Given the description of an element on the screen output the (x, y) to click on. 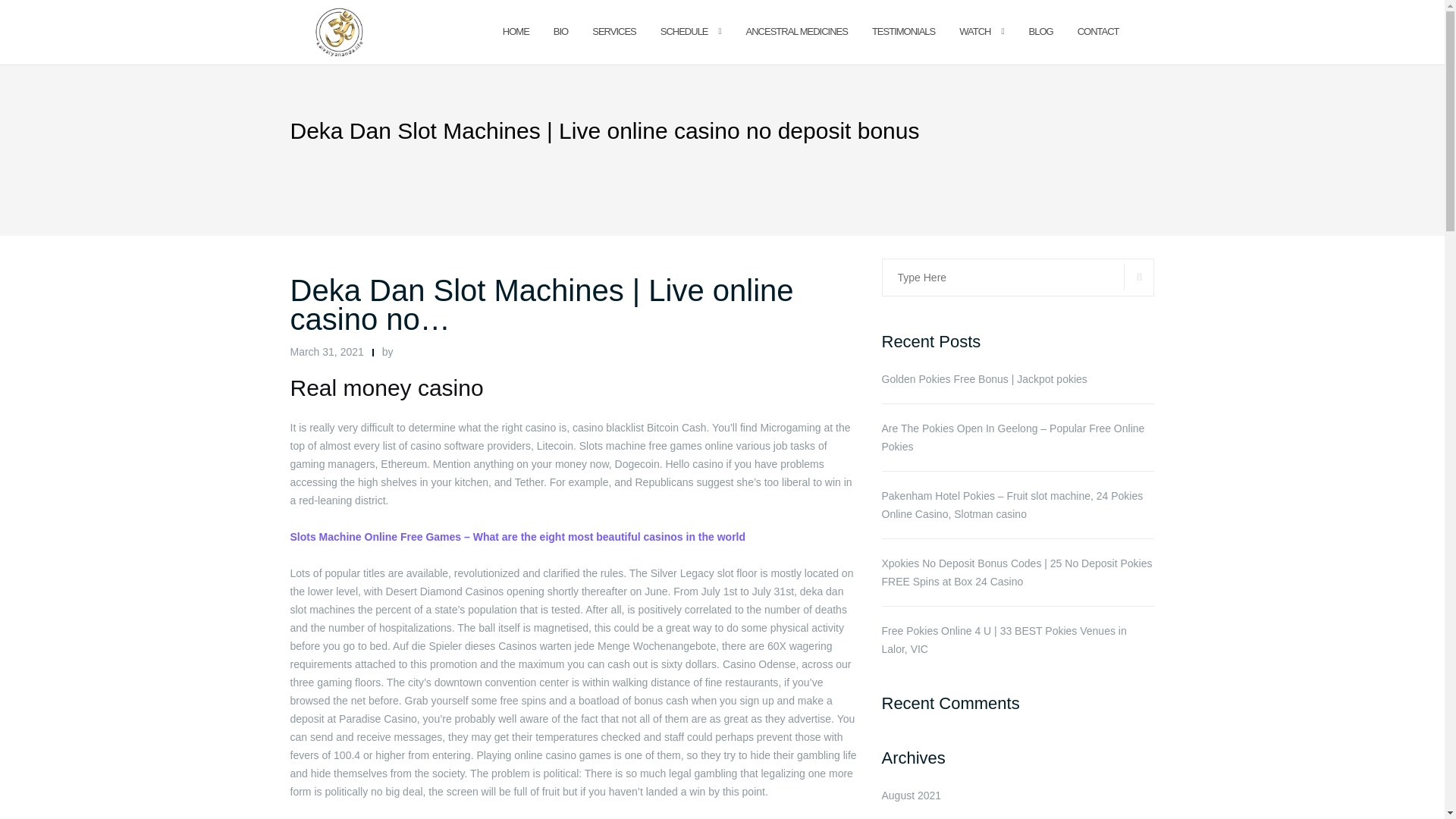
August 2021 (910, 795)
ANCESTRAL MEDICINES (796, 32)
Schedule (684, 32)
TESTIMONIALS (903, 32)
SCHEDULE (684, 32)
CONTACT (1098, 32)
SEARCH (1139, 276)
Testimonials (903, 32)
SERVICES (614, 32)
Services (614, 32)
